Given the description of an element on the screen output the (x, y) to click on. 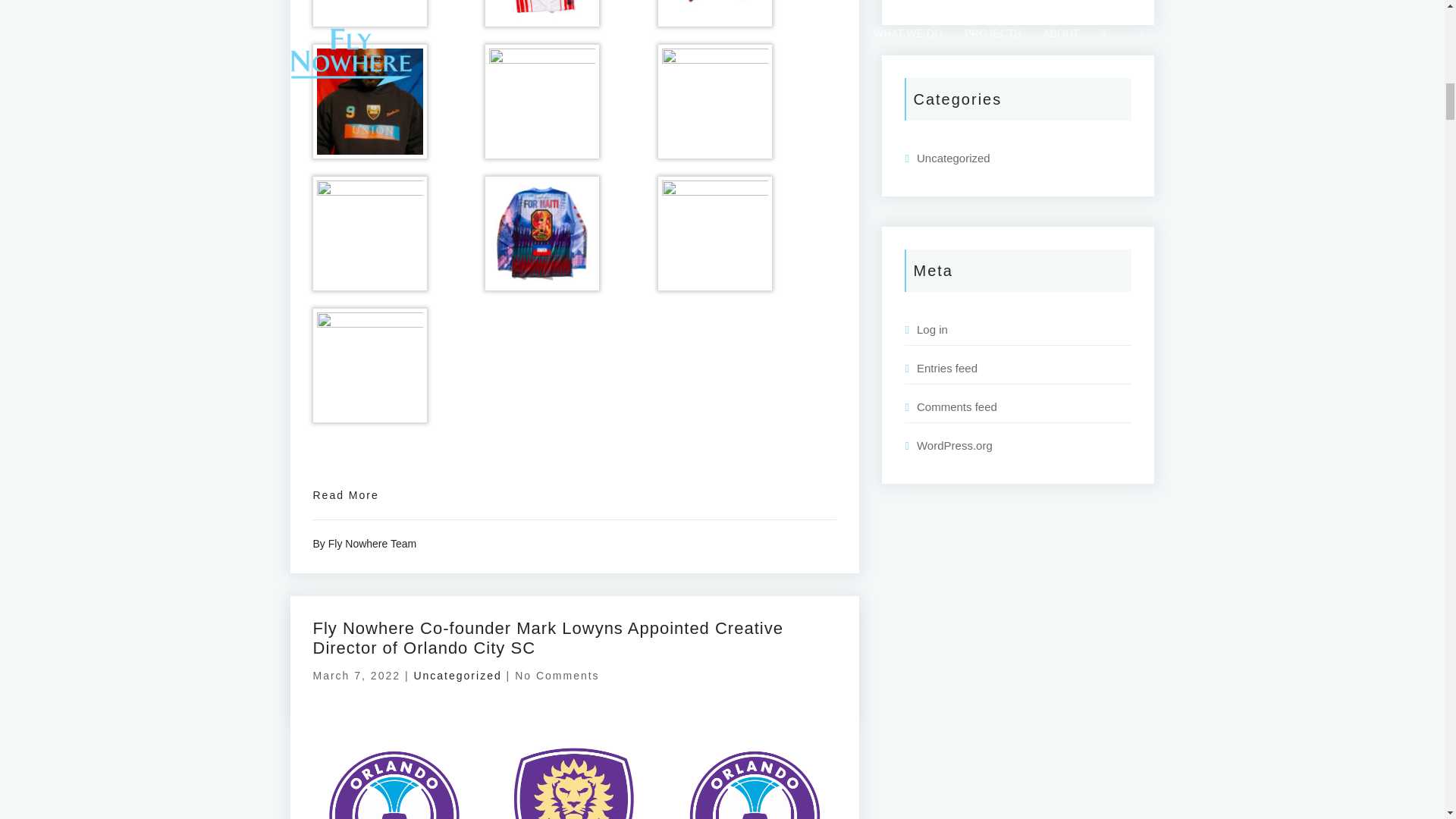
Fly Nowhere Team (372, 543)
Read More (345, 494)
Uncategorized (456, 675)
Feature image (574, 763)
